Given the description of an element on the screen output the (x, y) to click on. 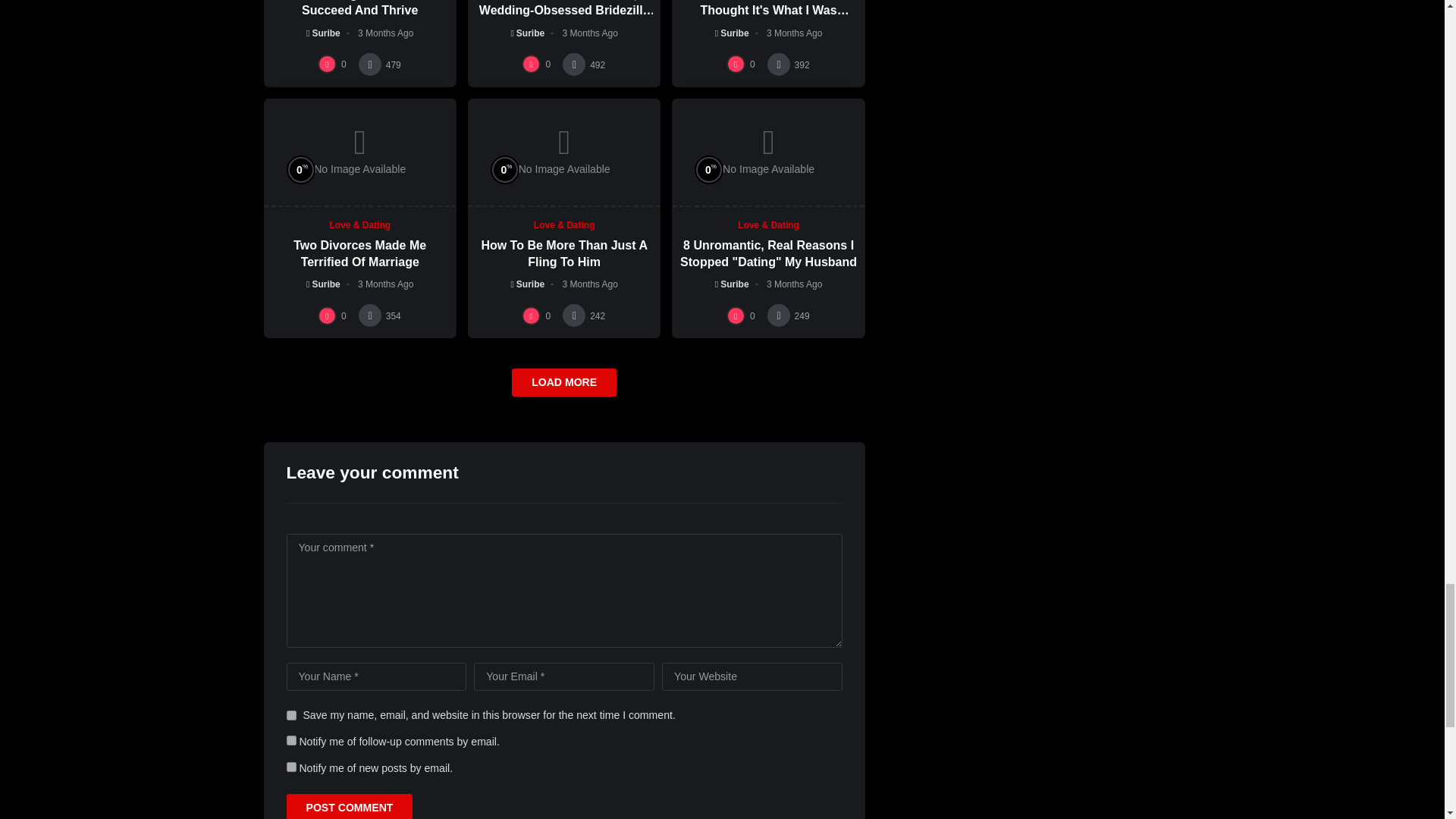
The One Thing We All Need To Succeed And Thrive (359, 8)
subscribe (291, 740)
Post comment (349, 806)
subscribe (291, 767)
Suribe (322, 32)
yes (291, 715)
